Given the description of an element on the screen output the (x, y) to click on. 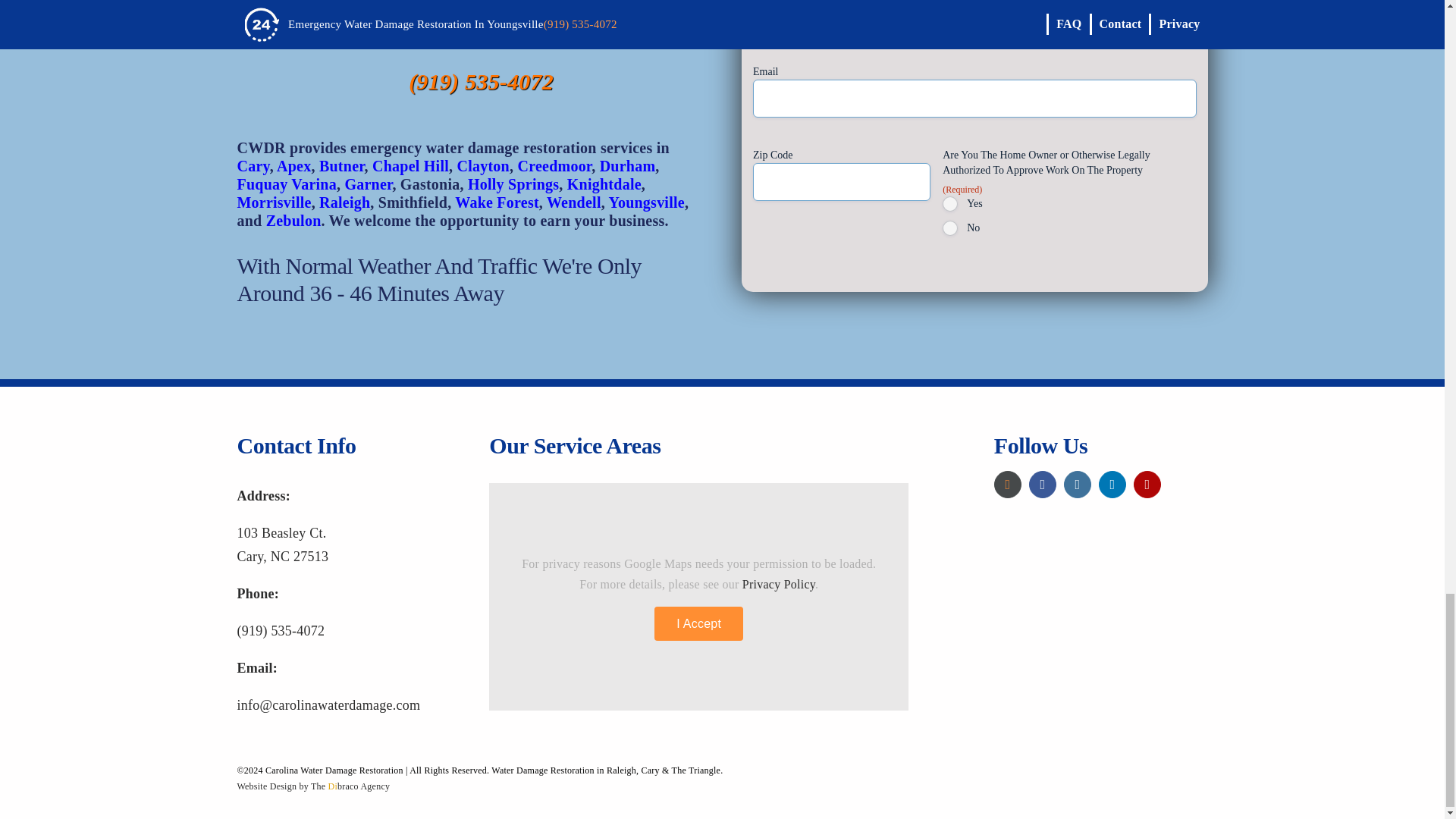
No (950, 227)
Yes (950, 203)
